Given the description of an element on the screen output the (x, y) to click on. 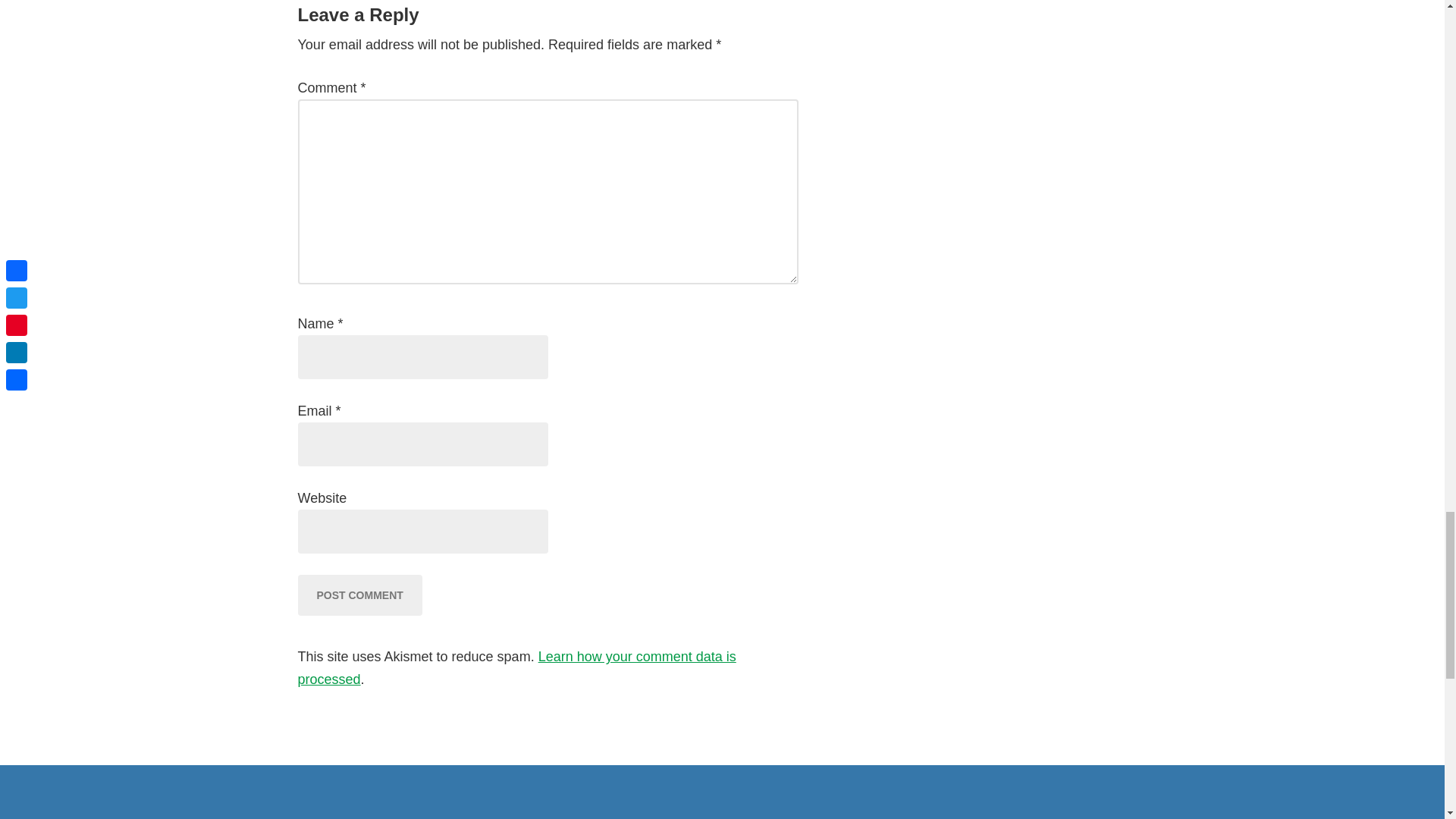
Post Comment (359, 594)
